Given the description of an element on the screen output the (x, y) to click on. 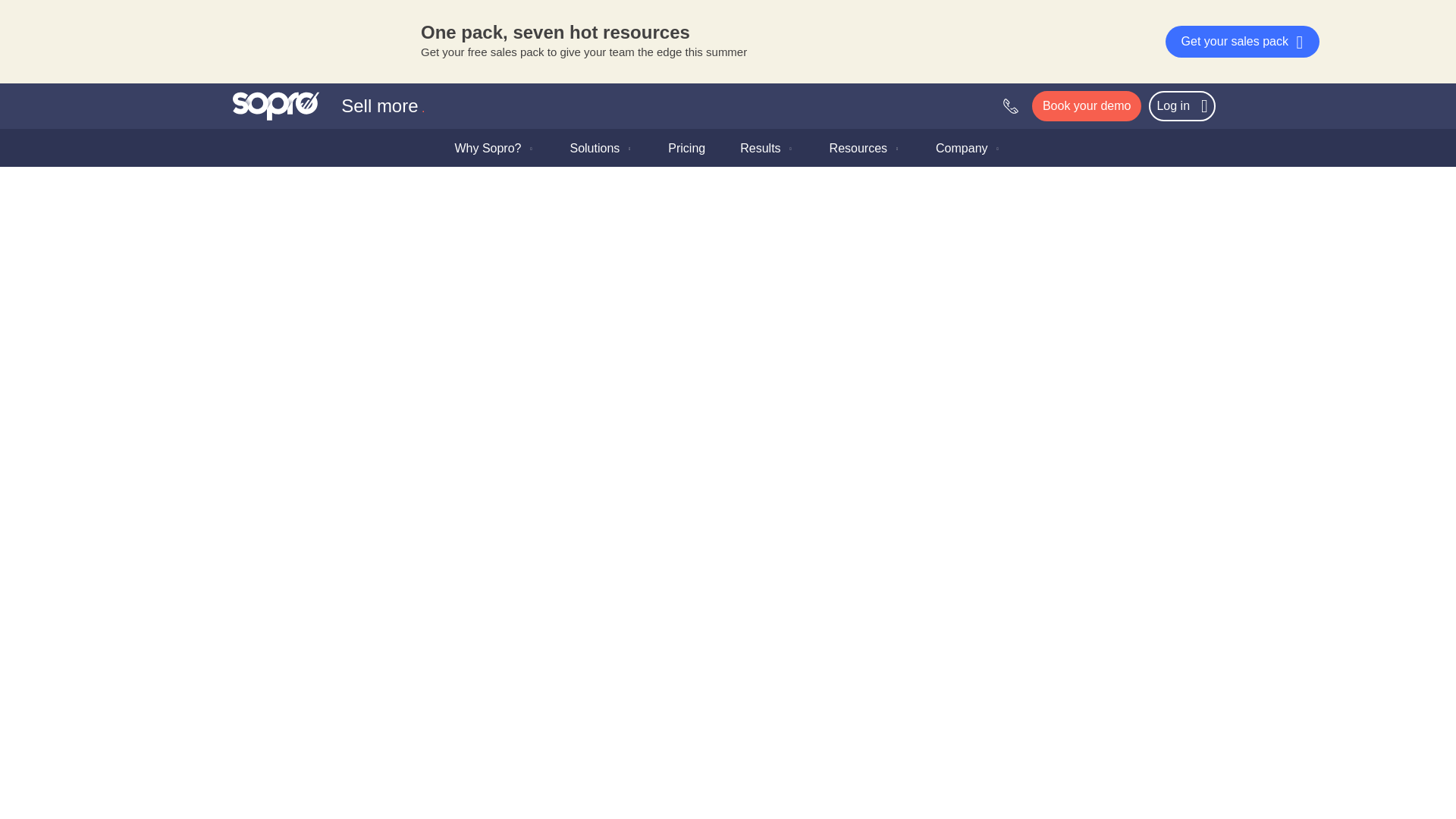
Sopro (328, 105)
Get your sales pack (1242, 41)
Sell more . (328, 105)
Book your demo (1086, 105)
Log in (1181, 105)
Get your sales pack (1242, 41)
